Given the description of an element on the screen output the (x, y) to click on. 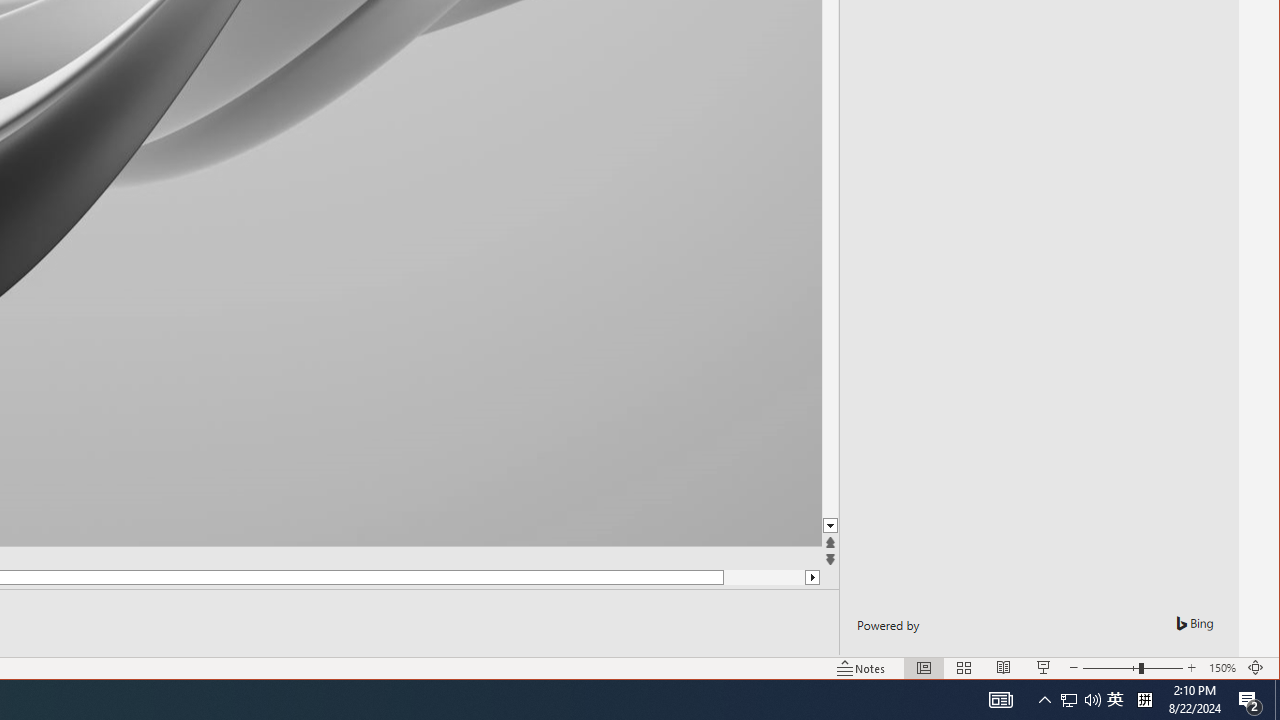
Zoom 150% (1222, 668)
